Given the description of an element on the screen output the (x, y) to click on. 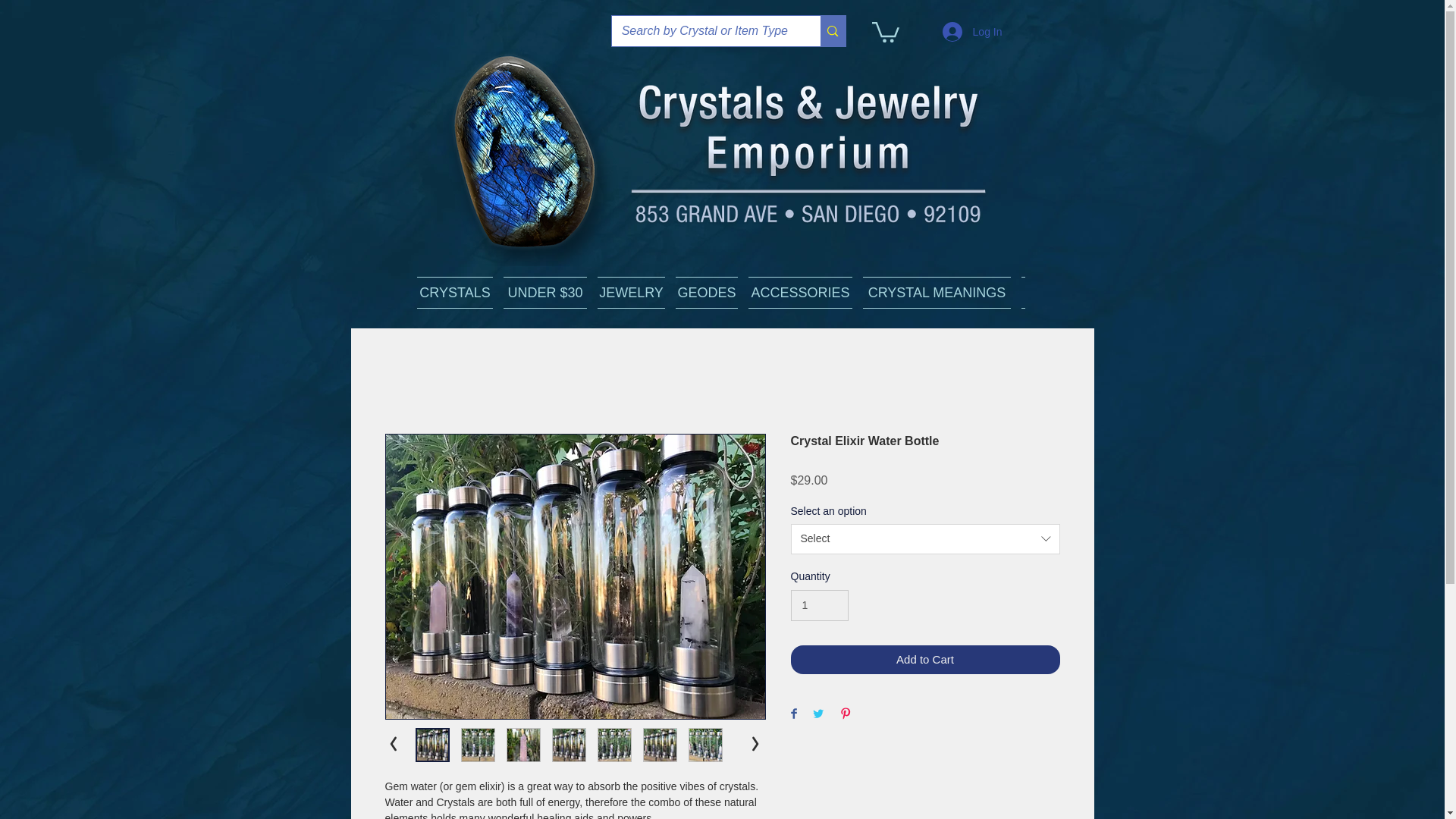
CRYSTALS (454, 292)
1 (818, 604)
Log In (972, 31)
